Given the description of an element on the screen output the (x, y) to click on. 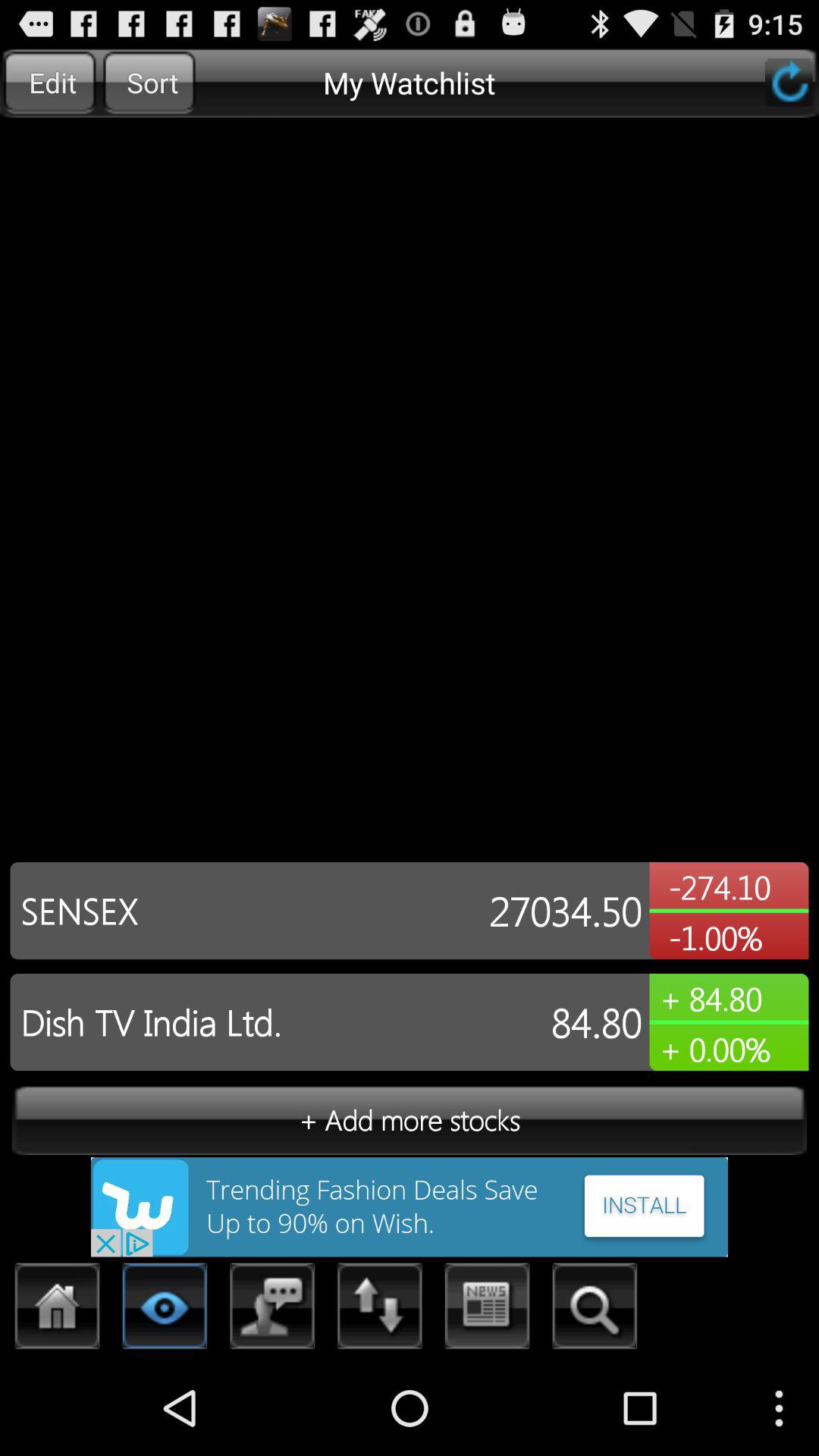
refresh the page (788, 82)
